Given the description of an element on the screen output the (x, y) to click on. 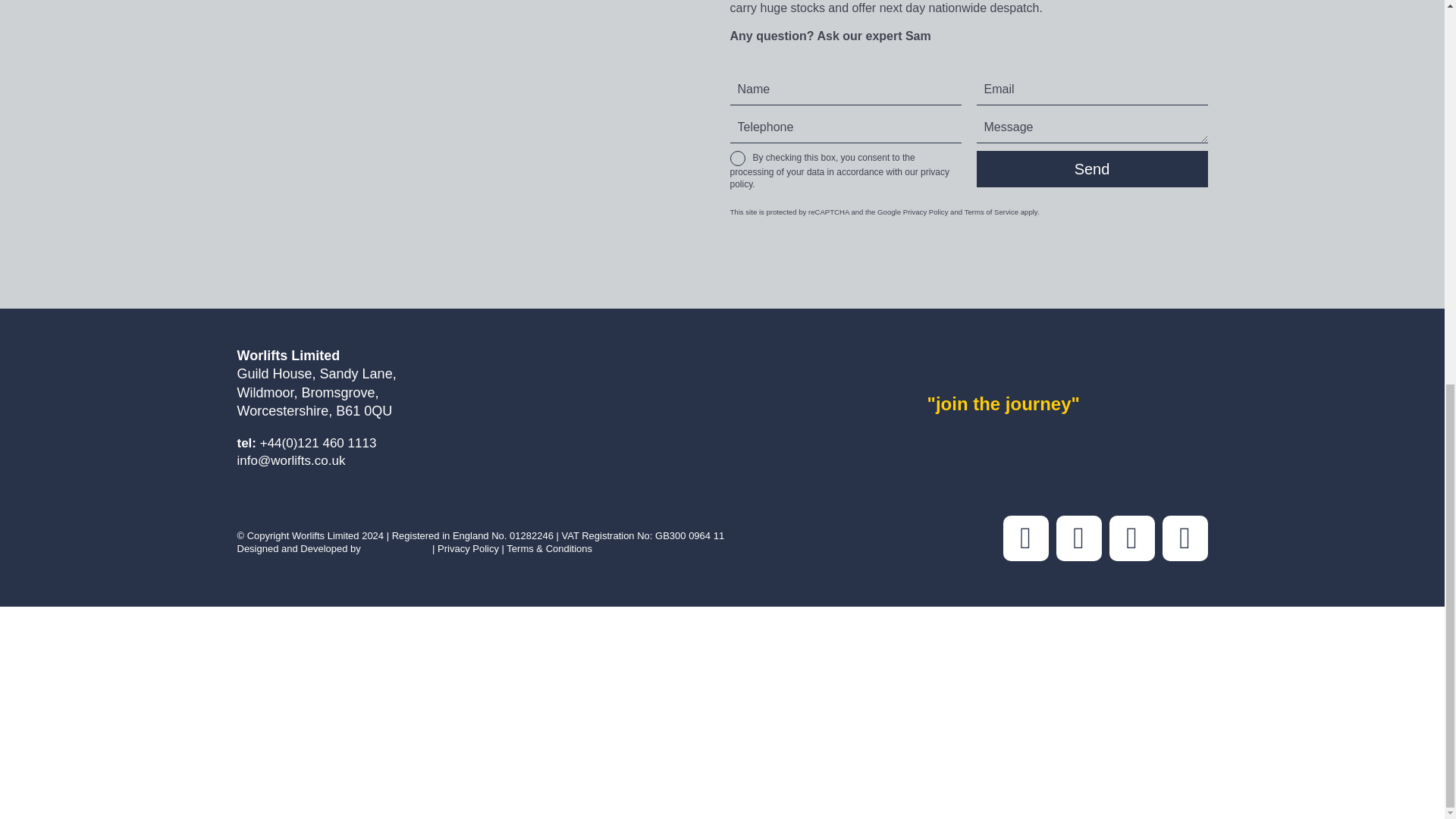
Web Design and Development  (395, 548)
JOSCAR Registered (831, 658)
Construction Online (282, 643)
AchillesLogo (393, 650)
Send (1092, 168)
Chas Logo (940, 658)
Man 13 (474, 101)
Gea Logo (611, 644)
Send (1092, 168)
Privacy Policy (925, 212)
